Given the description of an element on the screen output the (x, y) to click on. 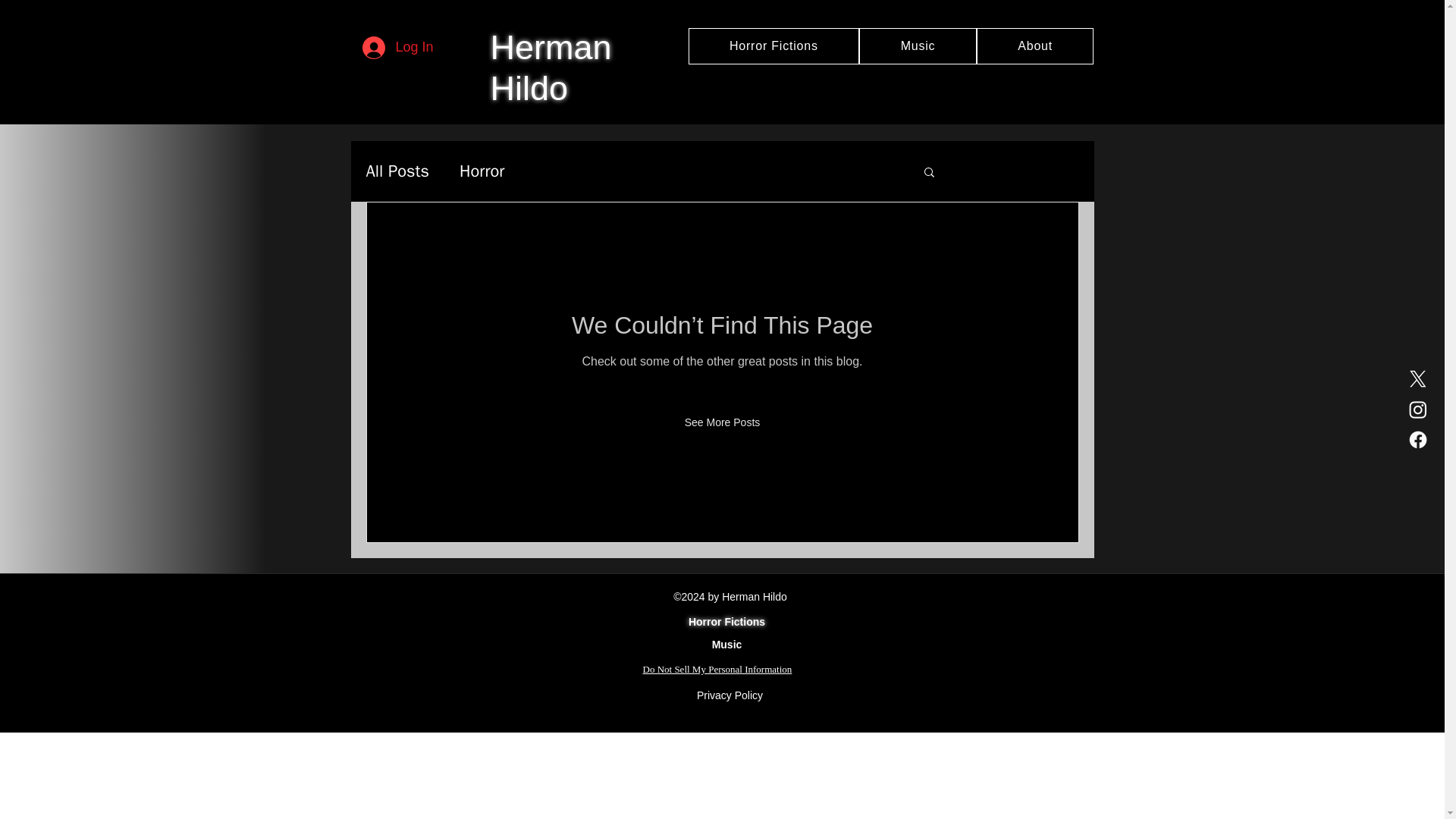
Horror Fictions (726, 621)
Music (917, 45)
Do Not Sell My Personal Information (717, 669)
Horror (481, 170)
Log In (395, 47)
Horror Fictions (774, 45)
Music (726, 644)
About (1035, 45)
All Posts (397, 170)
See More Posts (722, 422)
